Given the description of an element on the screen output the (x, y) to click on. 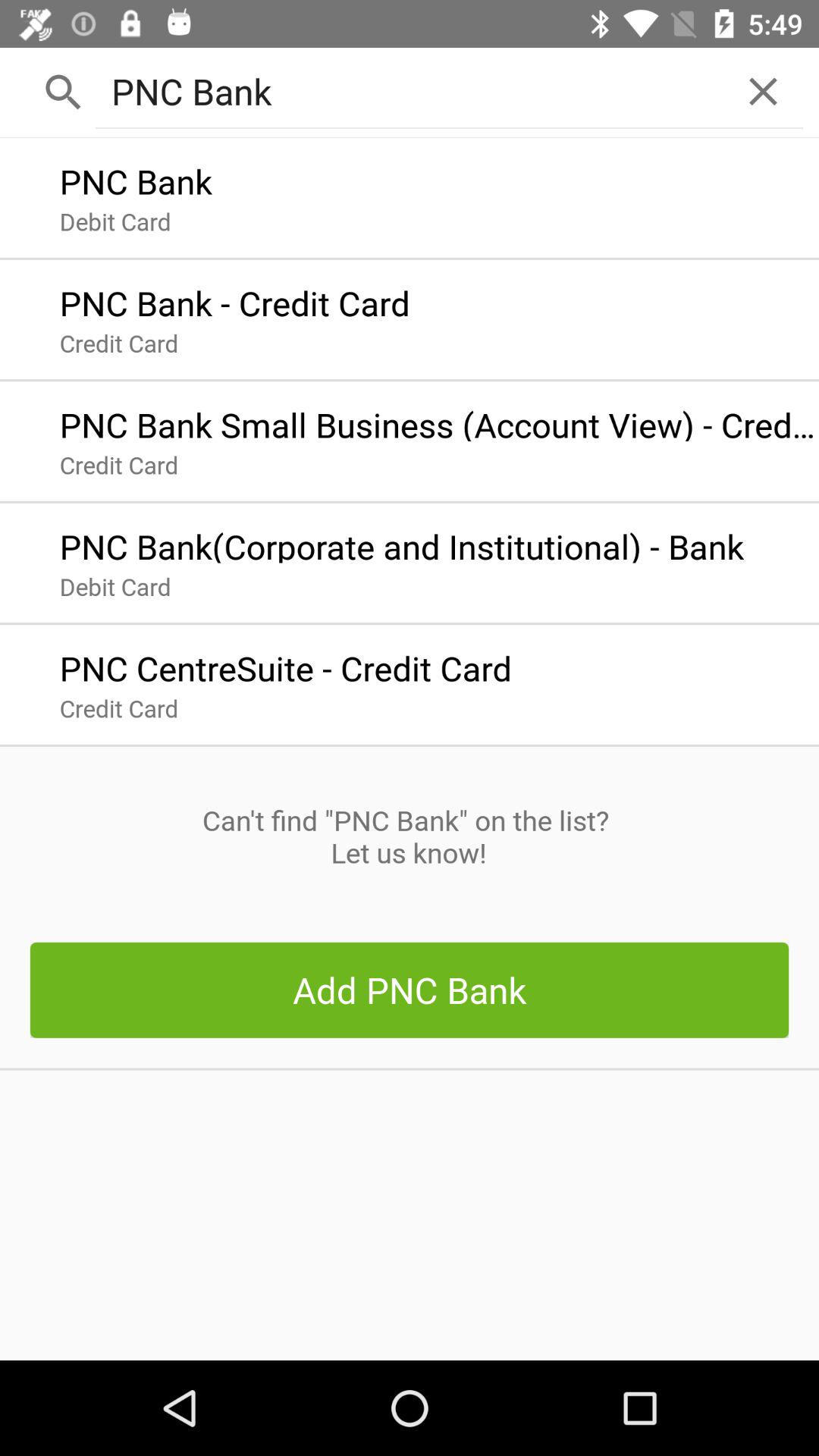
launch the item next to the pnc bank icon (763, 91)
